Given the description of an element on the screen output the (x, y) to click on. 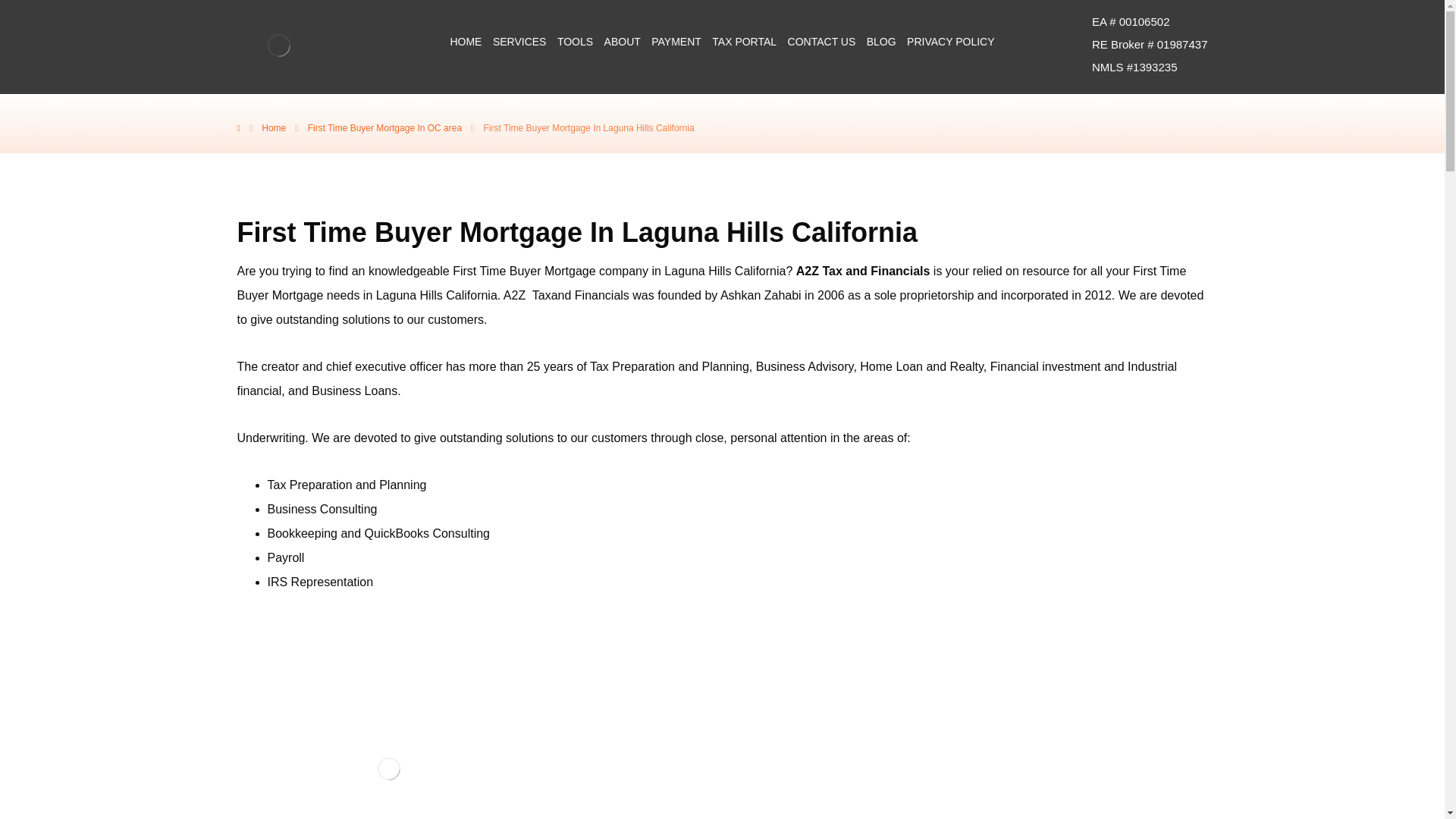
BLOG (881, 41)
ABOUT (622, 41)
HOME (465, 41)
First Time Buyer Mortgage In Laguna Hills California (588, 127)
SERVICES (520, 41)
First Time Buyer Mortgage In OC area (384, 127)
TOOLS (574, 41)
Home (273, 127)
PRIVACY POLICY (950, 41)
